Given the description of an element on the screen output the (x, y) to click on. 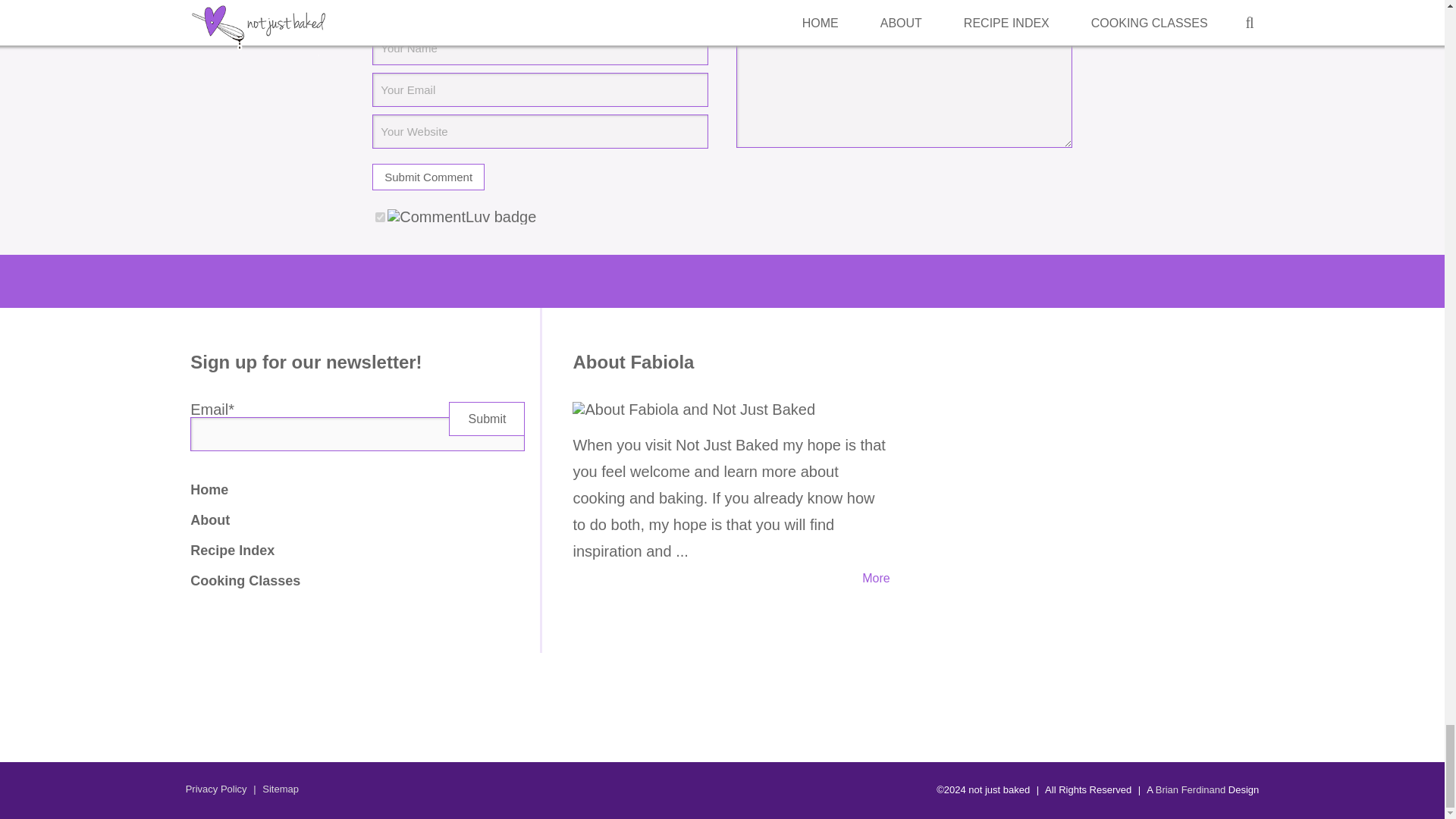
Submit (486, 418)
Web Design and Web Development by Brian Ferdinand Designs (1190, 789)
on (380, 216)
Submit Comment (428, 176)
